Given the description of an element on the screen output the (x, y) to click on. 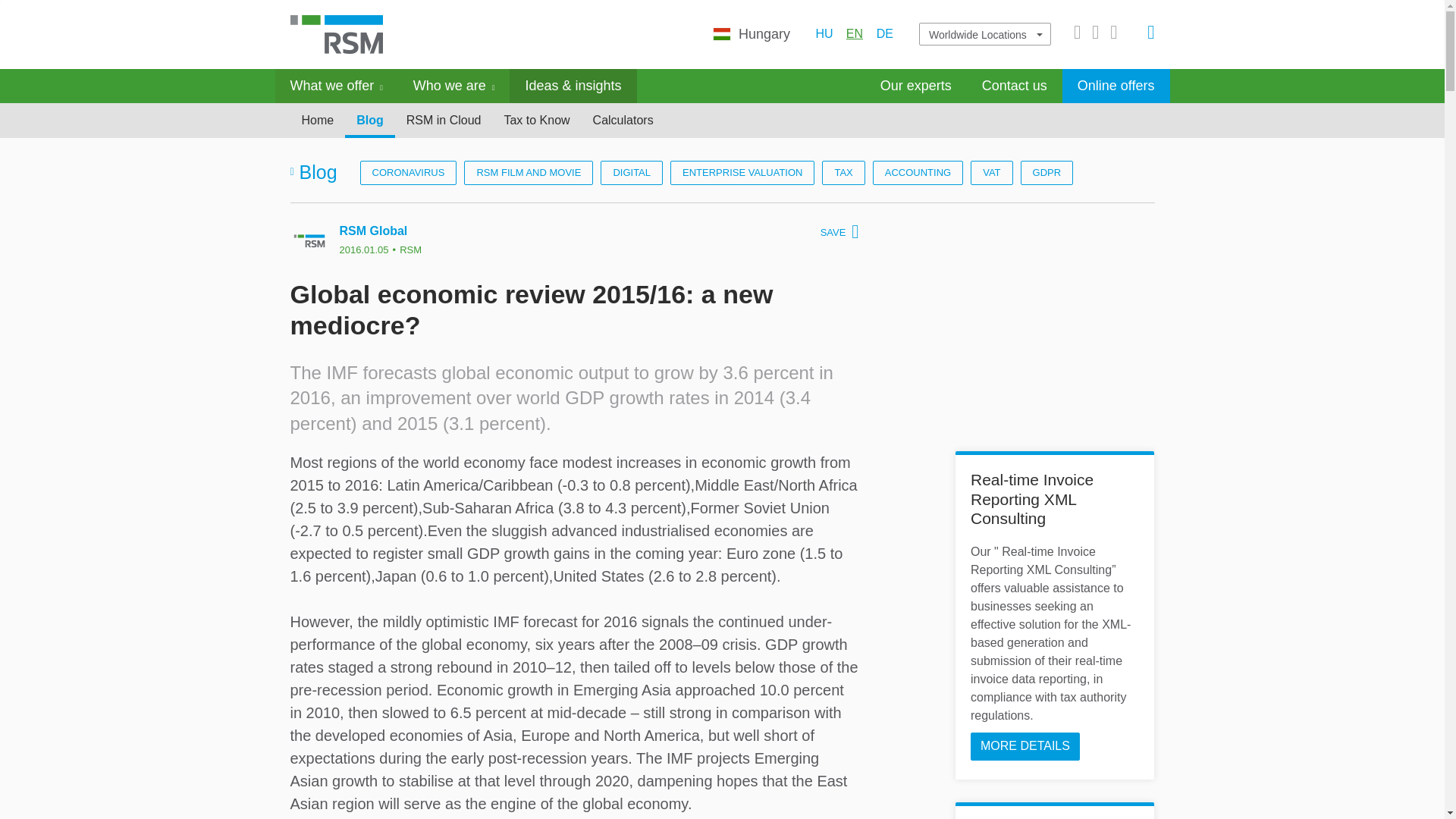
Worldwide Locations (985, 34)
